Given the description of an element on the screen output the (x, y) to click on. 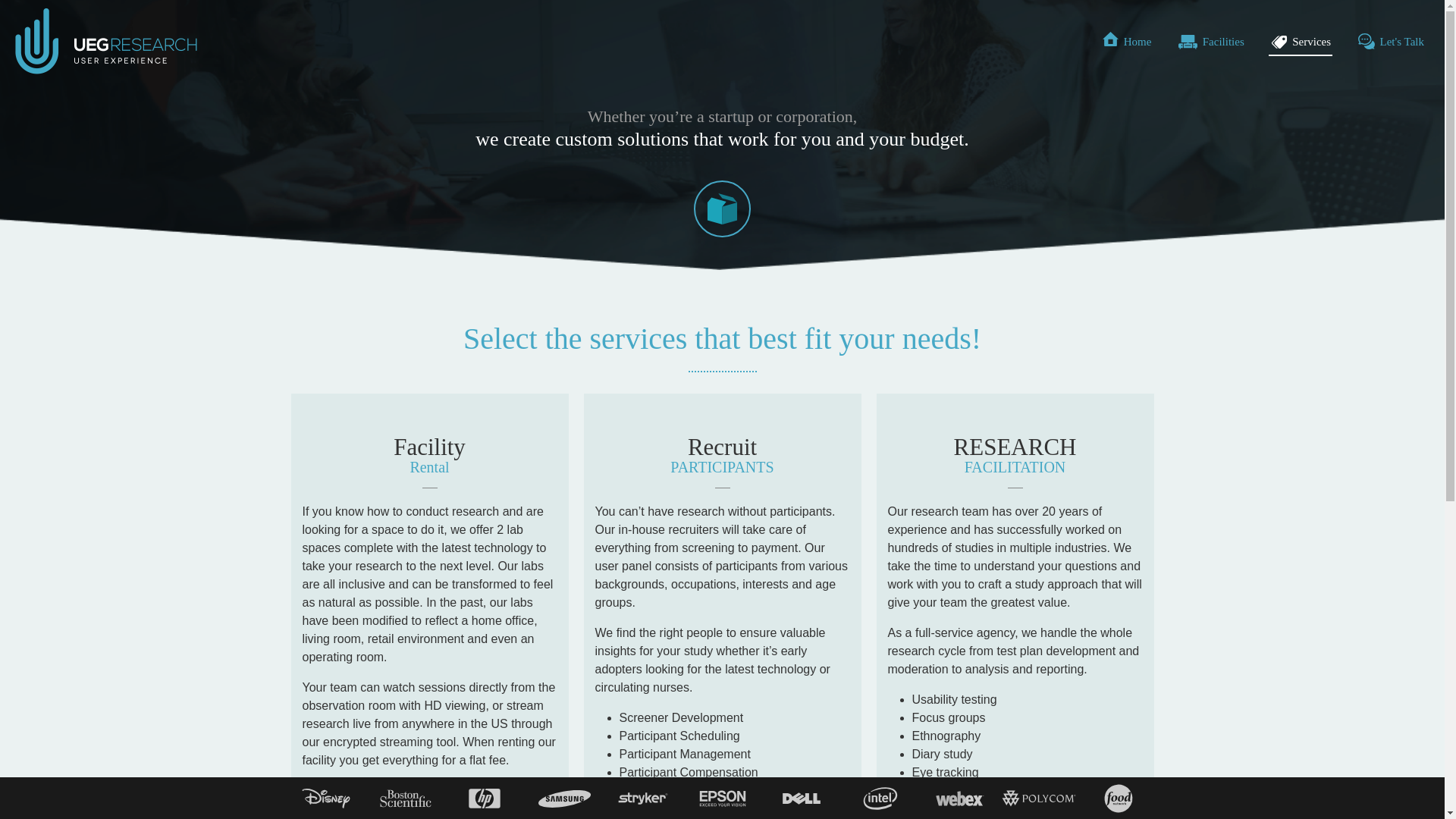
Let's Talk (1390, 43)
Home (1126, 43)
Facilities (1209, 43)
Services (1300, 43)
